Given the description of an element on the screen output the (x, y) to click on. 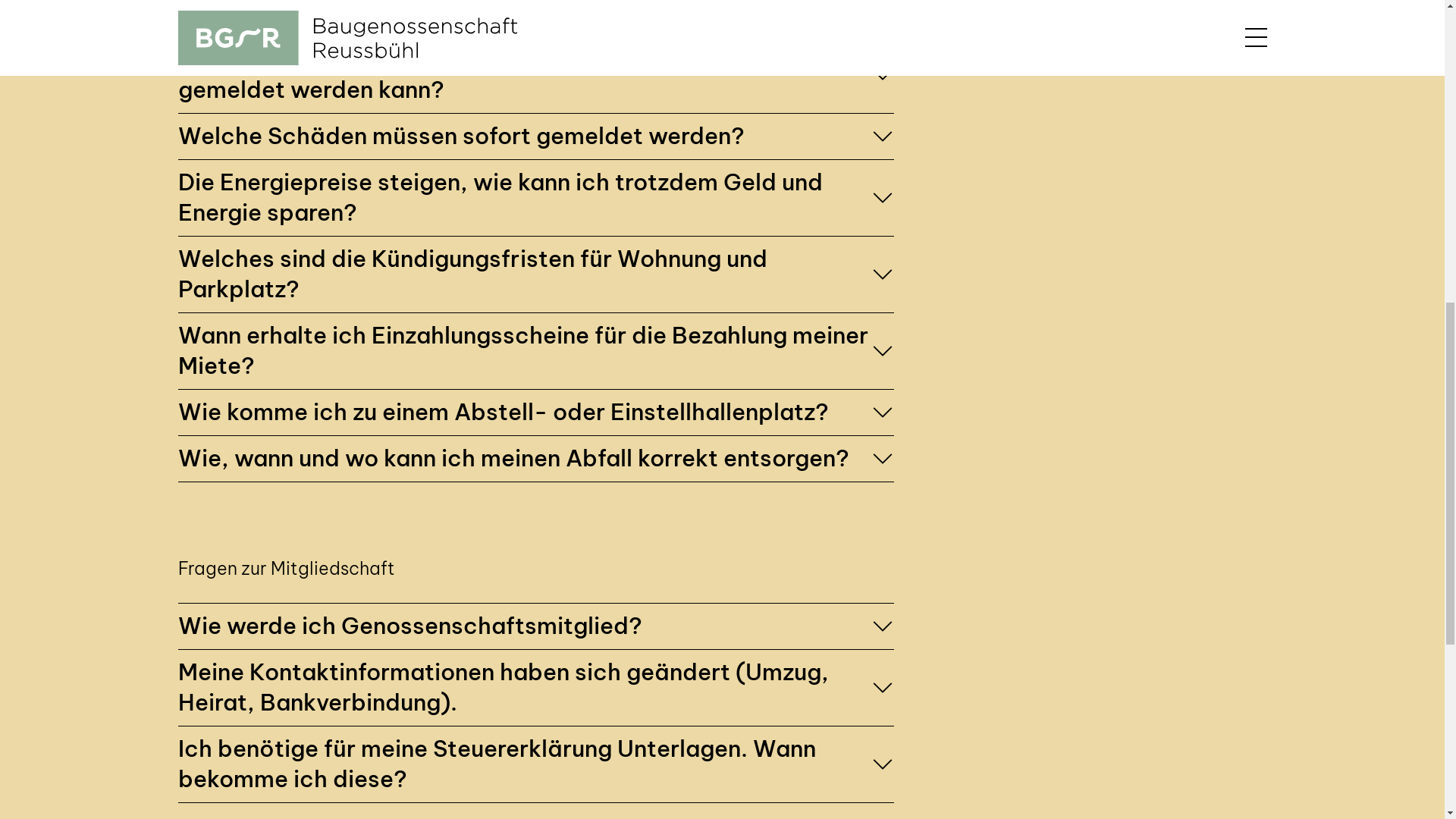
Ich wohne bei der BGR und habe eine Reparaturmeldung. Element type: text (535, 598)
Bequem und online Element type: text (1029, 316)
Schadenmeldeformular Element type: text (265, 709)
Nach welchen Kriterien werden BGR-Wohnungen vergeben? Element type: text (535, 431)
Kann ich eine aktuell ausgeschriebene Wohnung besichtigen? Element type: text (535, 384)
Wie kann ich mich um eine BGR-Wohnung bewerben? Element type: text (535, 292)
Frage stellen Element type: text (1010, 648)
